Given the description of an element on the screen output the (x, y) to click on. 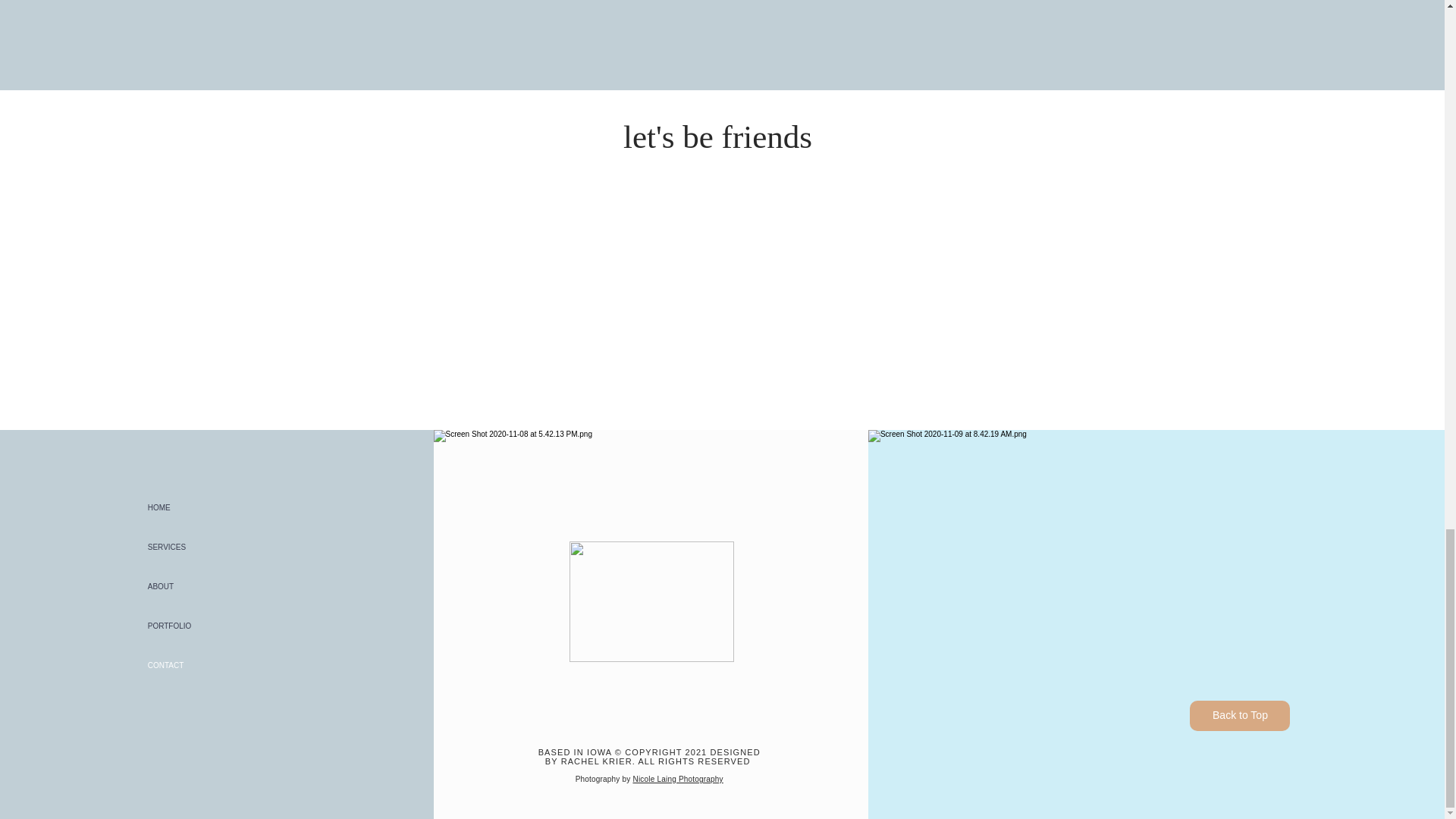
Back to Top (1239, 716)
Wix.com (765, 667)
CONTACT (204, 665)
HOME (204, 507)
PORTFOLIO (204, 626)
Nicole Laing Photography (676, 778)
SERVICES (204, 547)
ABOUT (204, 586)
